Given the description of an element on the screen output the (x, y) to click on. 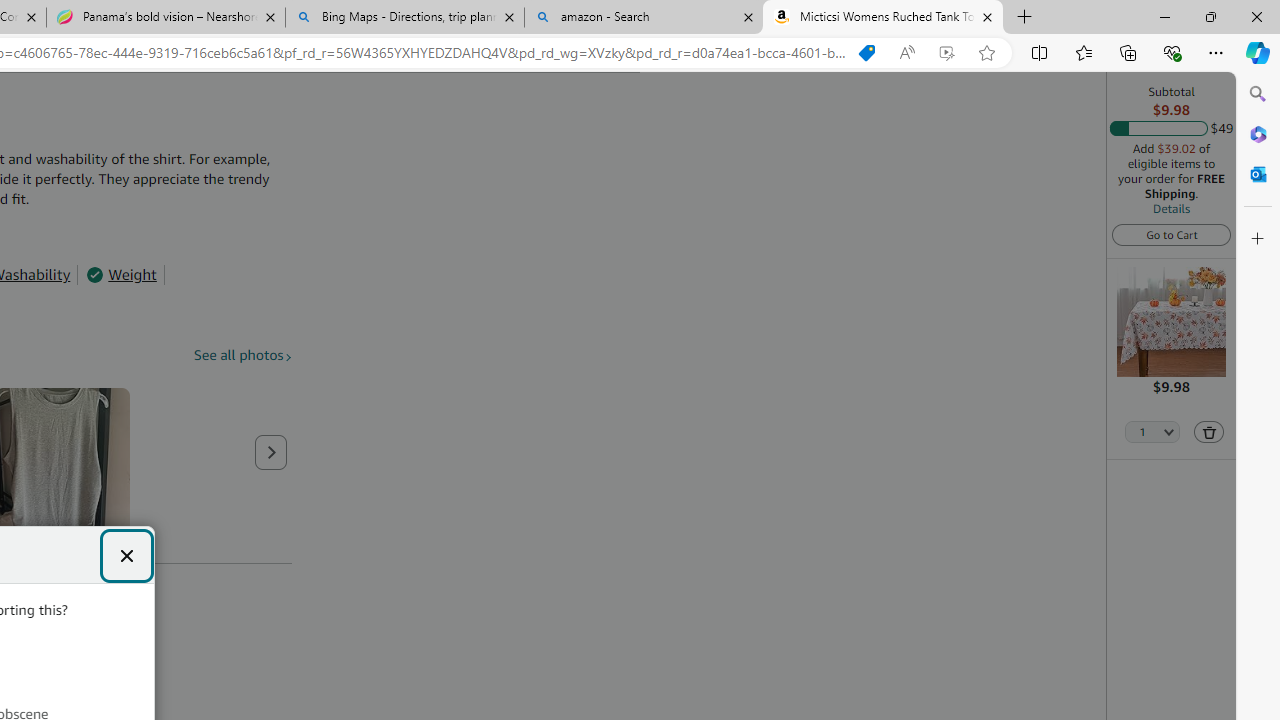
See all photos (243, 355)
Weight (121, 274)
Next page (271, 452)
Shopping in Microsoft Edge (867, 53)
